Given the description of an element on the screen output the (x, y) to click on. 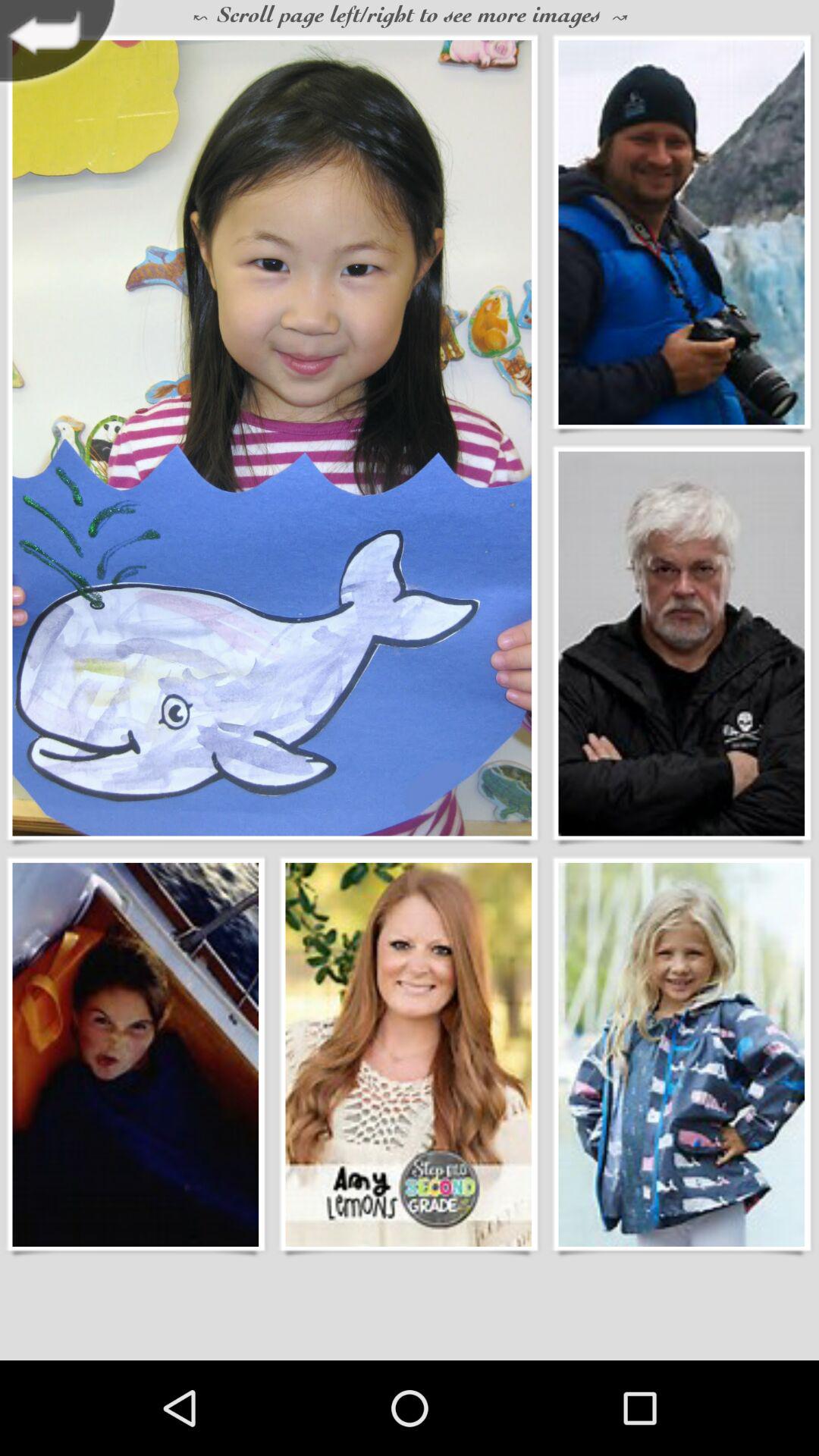
choose wallpaper (408, 1054)
